Given the description of an element on the screen output the (x, y) to click on. 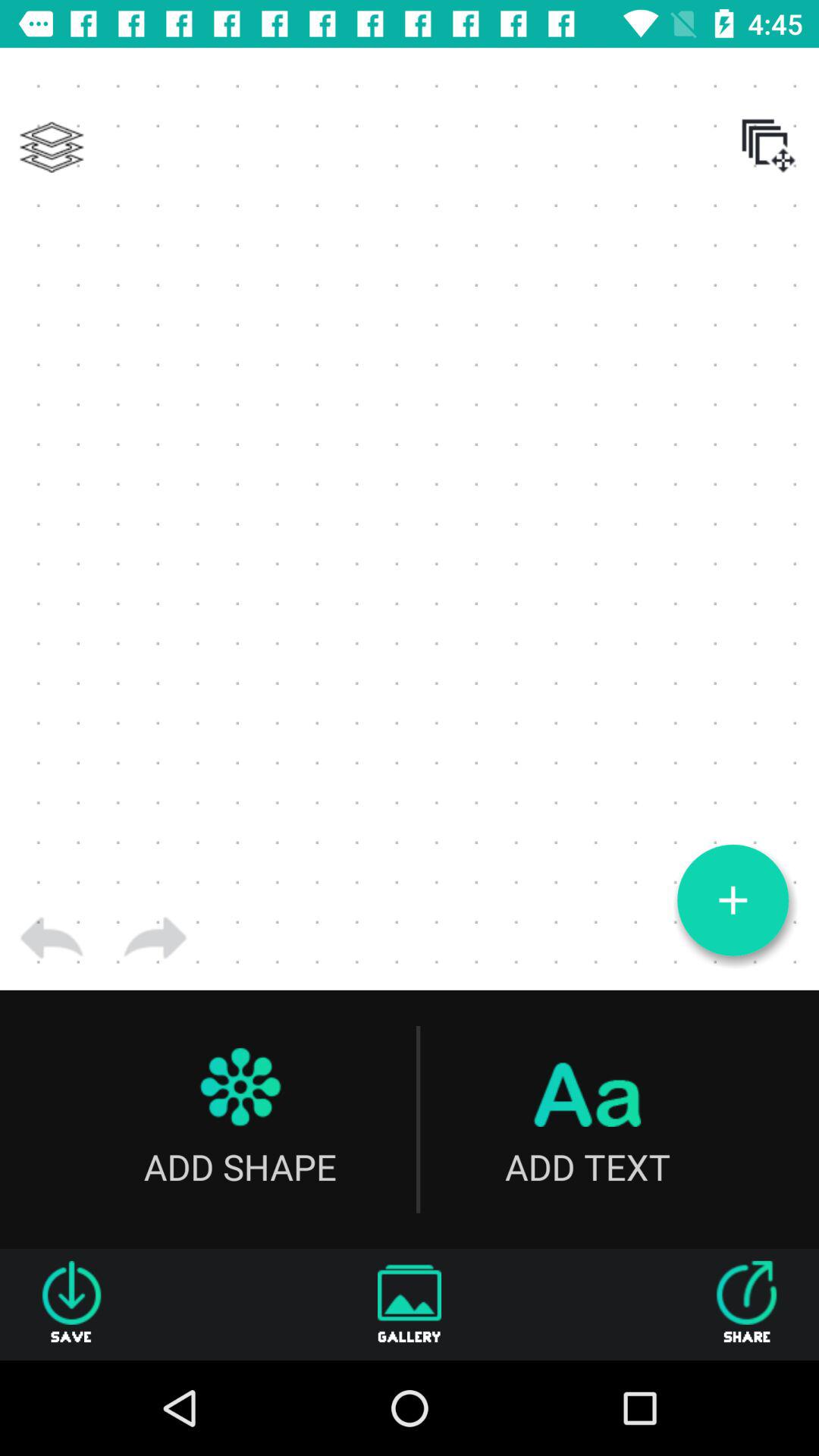
add layers (51, 147)
